Given the description of an element on the screen output the (x, y) to click on. 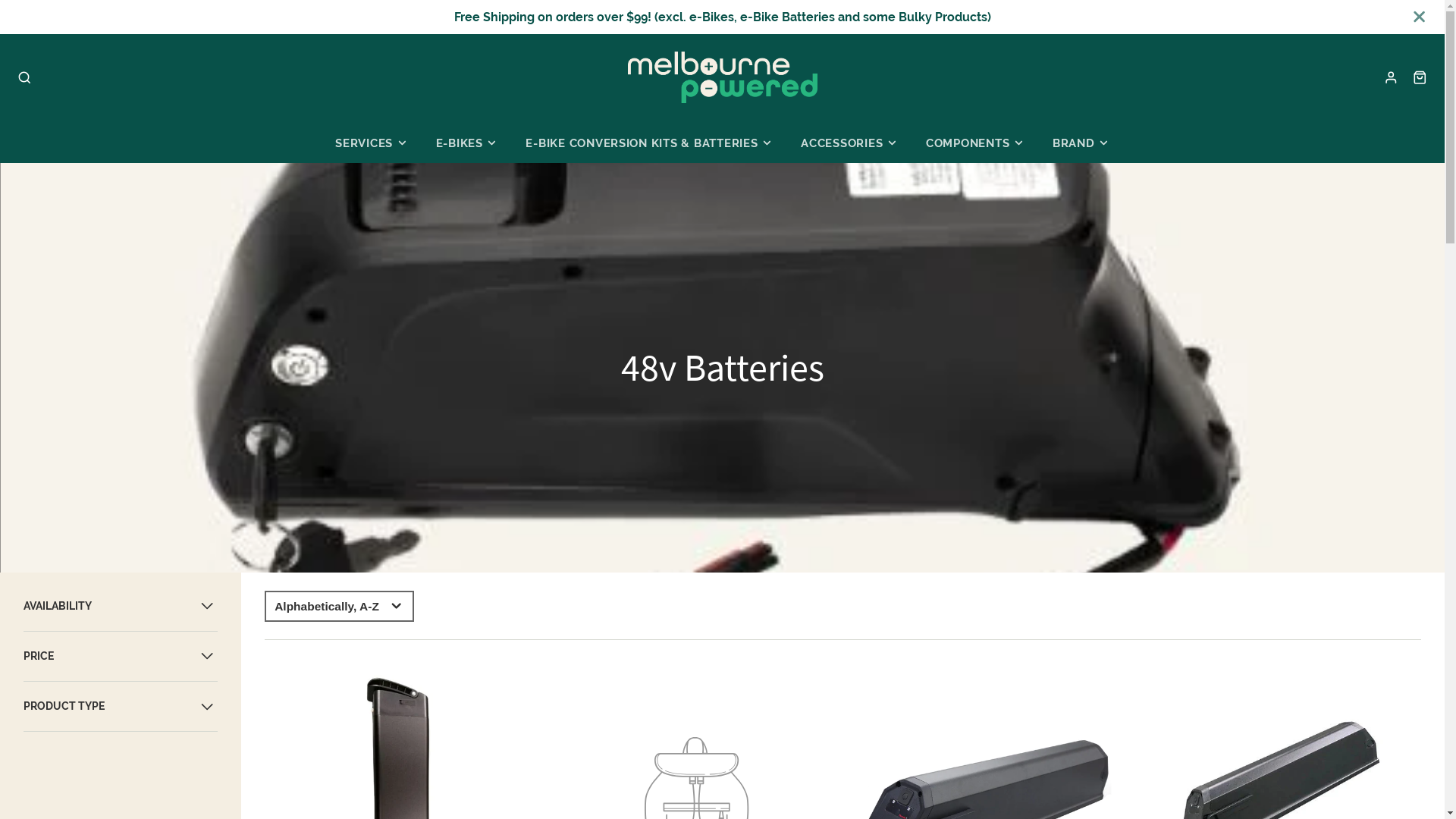
E-BIKE CONVERSION KITS & BATTERIES Element type: text (649, 142)
SEARCH Element type: text (24, 77)
BRAND Element type: text (1080, 142)
COMPONENTS Element type: text (974, 142)
LOG IN Element type: text (1390, 77)
E-BIKES Element type: text (466, 142)
CART Element type: text (1419, 77)
ACCESSORIES Element type: text (849, 142)
SERVICES Element type: text (371, 142)
